Given the description of an element on the screen output the (x, y) to click on. 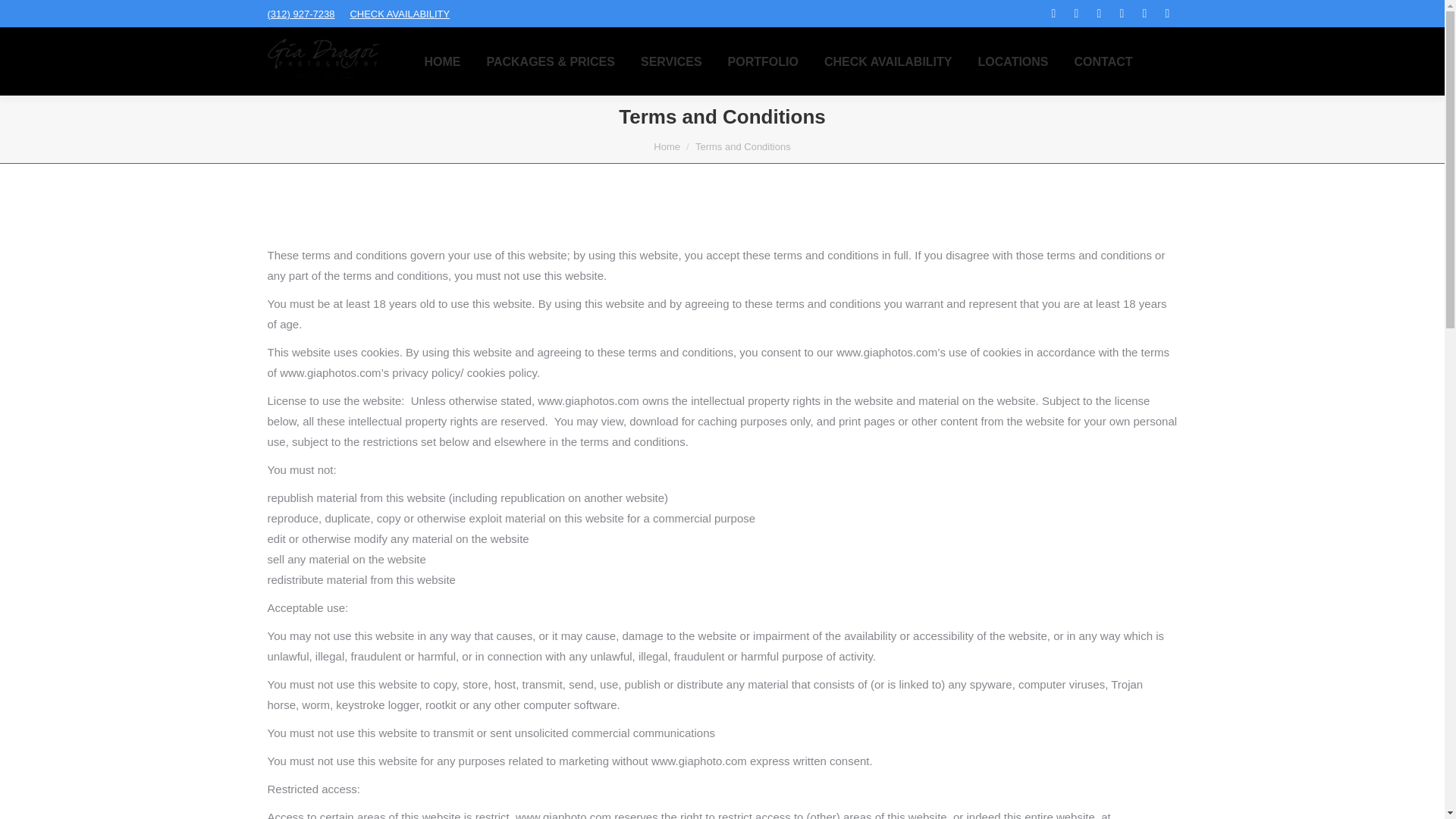
SERVICES (671, 61)
HOME (441, 61)
X page opens in new window (1076, 13)
CONTACT (1103, 61)
Pinterest page opens in new window (1167, 13)
CHECK AVAILABILITY (399, 12)
Linkedin page opens in new window (1099, 13)
CHECK AVAILABILITY (887, 61)
LOCATIONS (1013, 61)
Facebook page opens in new window (1053, 13)
Linkedin page opens in new window (1099, 13)
PORTFOLIO (763, 61)
Instagram page opens in new window (1122, 13)
Instagram page opens in new window (1122, 13)
YouTube page opens in new window (1144, 13)
